Given the description of an element on the screen output the (x, y) to click on. 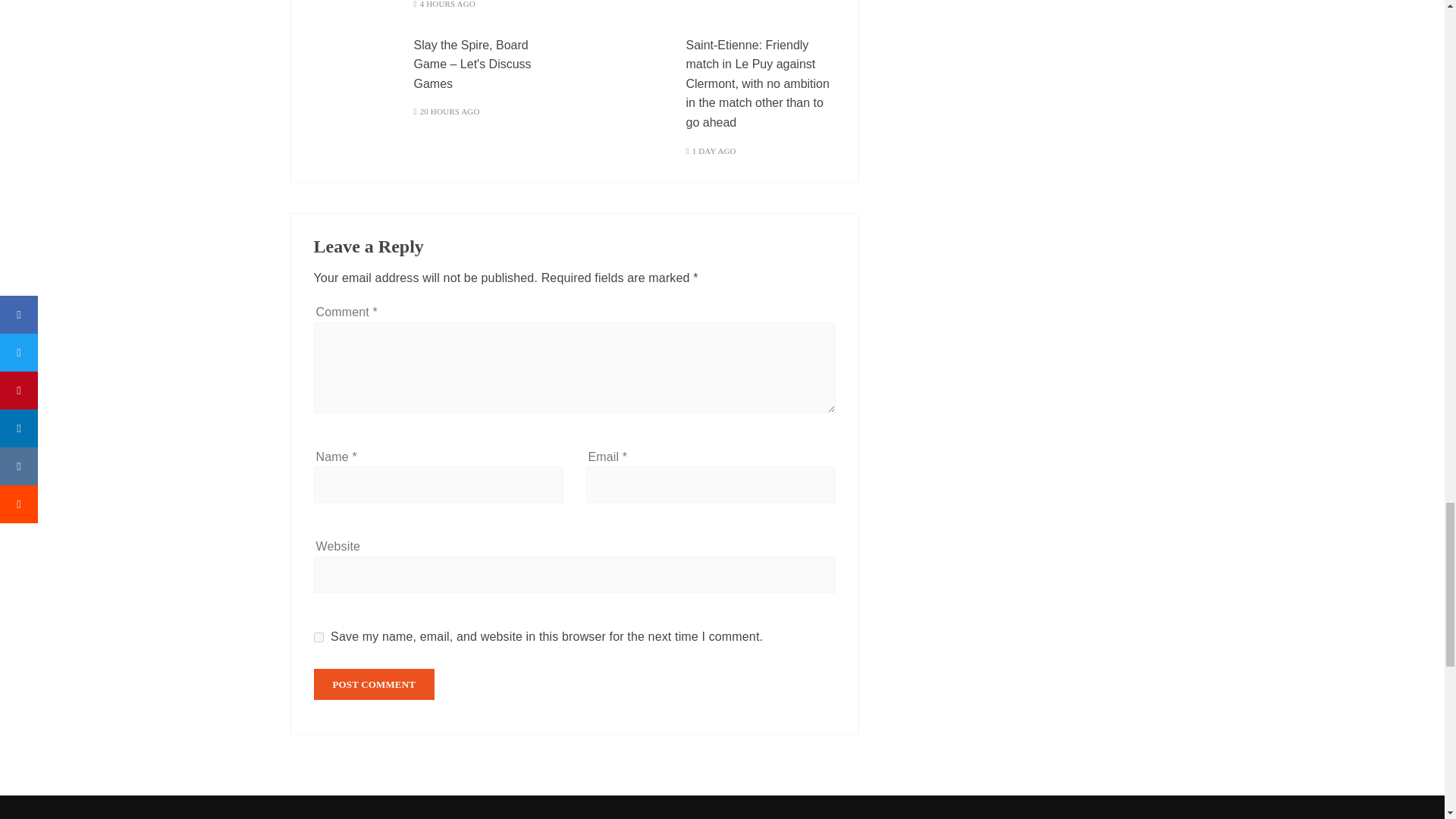
yes (318, 637)
Post Comment (374, 684)
